Given the description of an element on the screen output the (x, y) to click on. 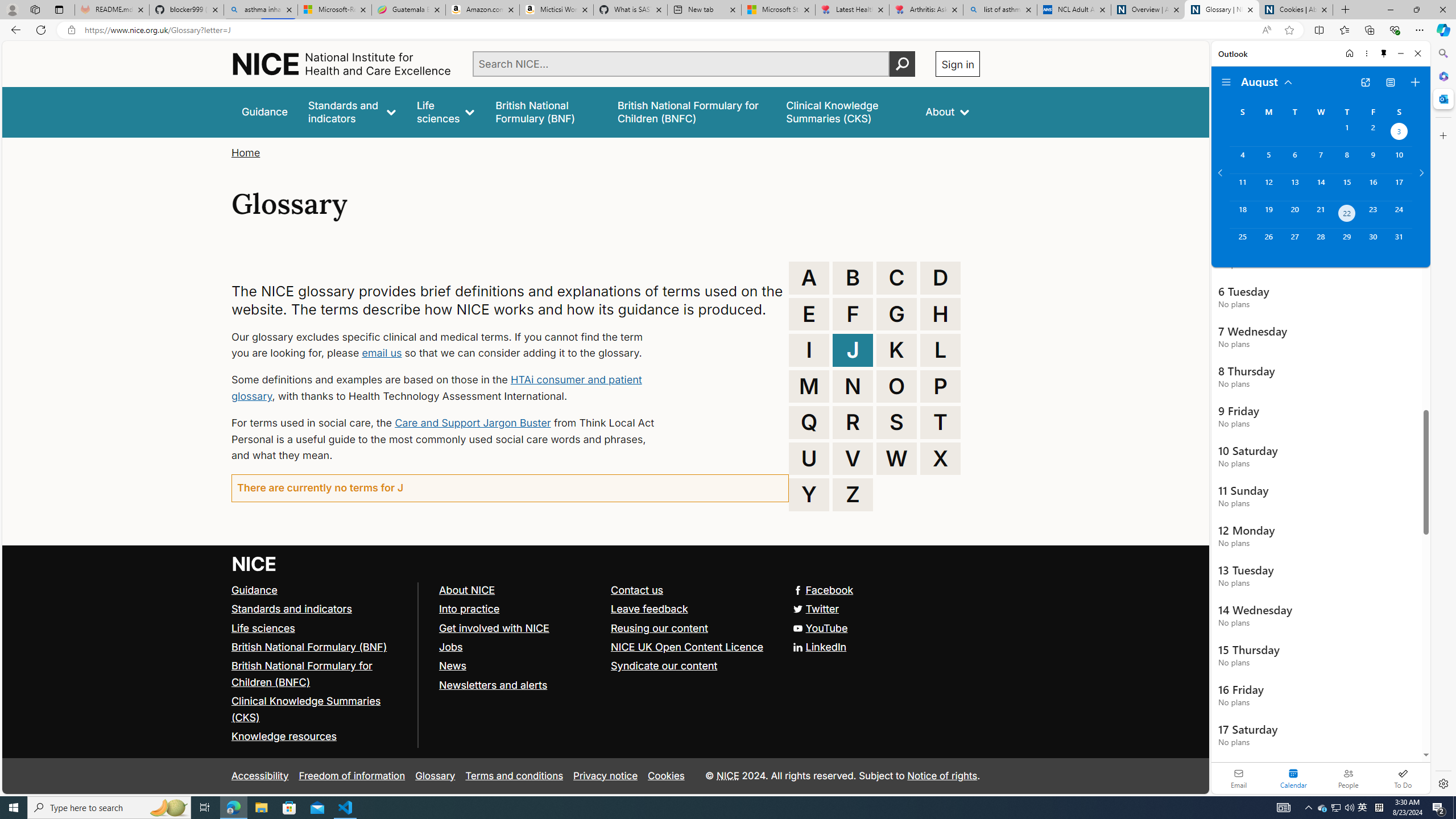
Email (1238, 777)
G (896, 313)
Thursday, August 22, 2024. Today.  (1346, 214)
I (809, 350)
Thursday, August 1, 2024.  (1346, 132)
Freedom of information (352, 775)
Leave feedback (649, 608)
